Given the description of an element on the screen output the (x, y) to click on. 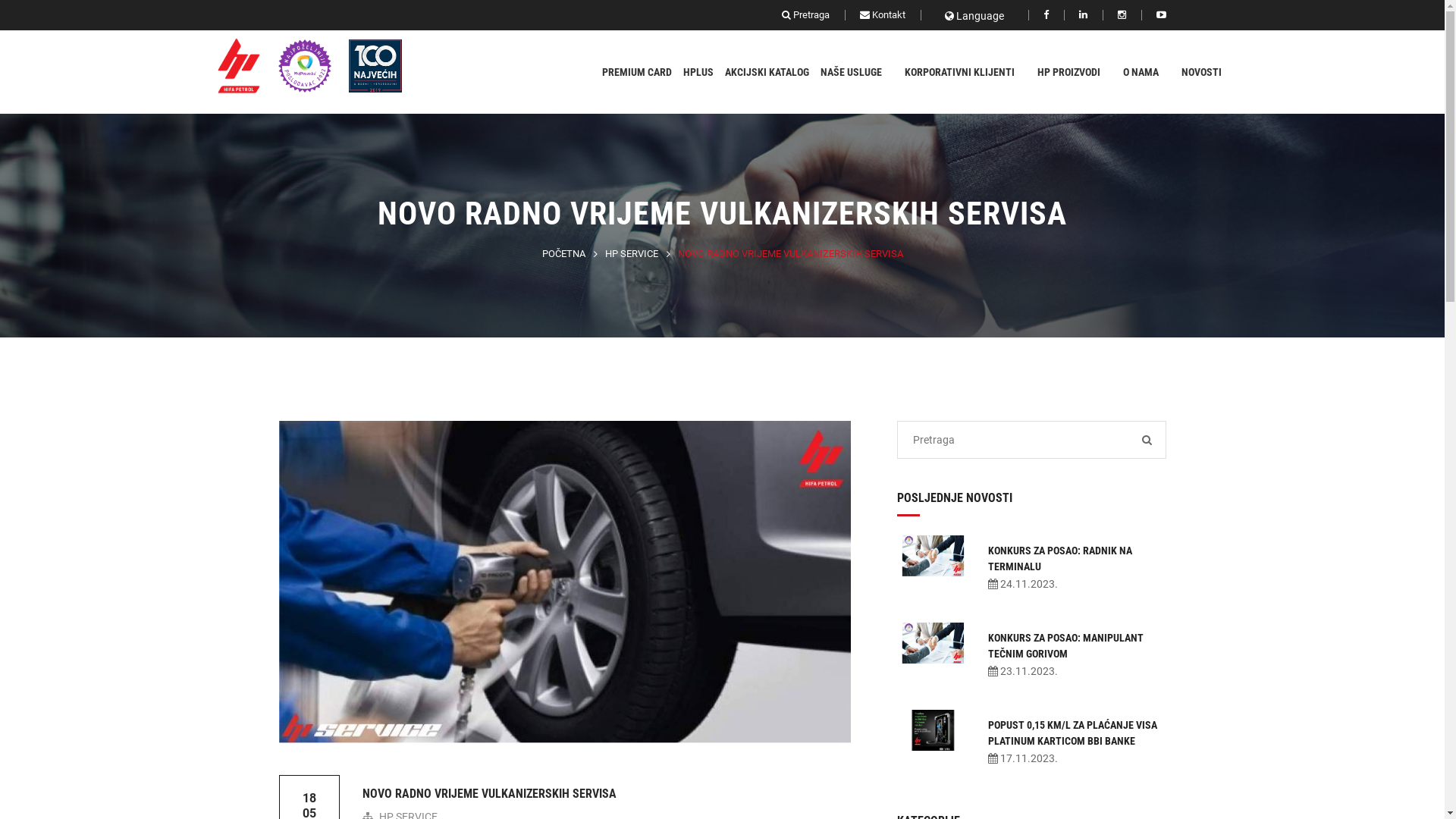
O NAMA Element type: text (1146, 71)
Hifa Petrol Element type: hover (231, 65)
HP SERVICE Element type: text (631, 253)
KORPORATIVNI KLIJENTI Element type: text (965, 71)
KONKURS ZA POSAO: RADNIK NA TERMINALU Element type: text (1059, 558)
AKCIJSKI KATALOG Element type: text (766, 71)
Pretraga Element type: text (804, 15)
Kontakt Element type: text (882, 14)
NOVOSTI Element type: text (1207, 71)
HPLUS Element type: text (698, 71)
Hifa Petrol Element type: hover (230, 65)
Language Element type: text (974, 15)
HP PROIZVODI Element type: text (1074, 71)
PREMIUM CARD Element type: text (636, 71)
